Given the description of an element on the screen output the (x, y) to click on. 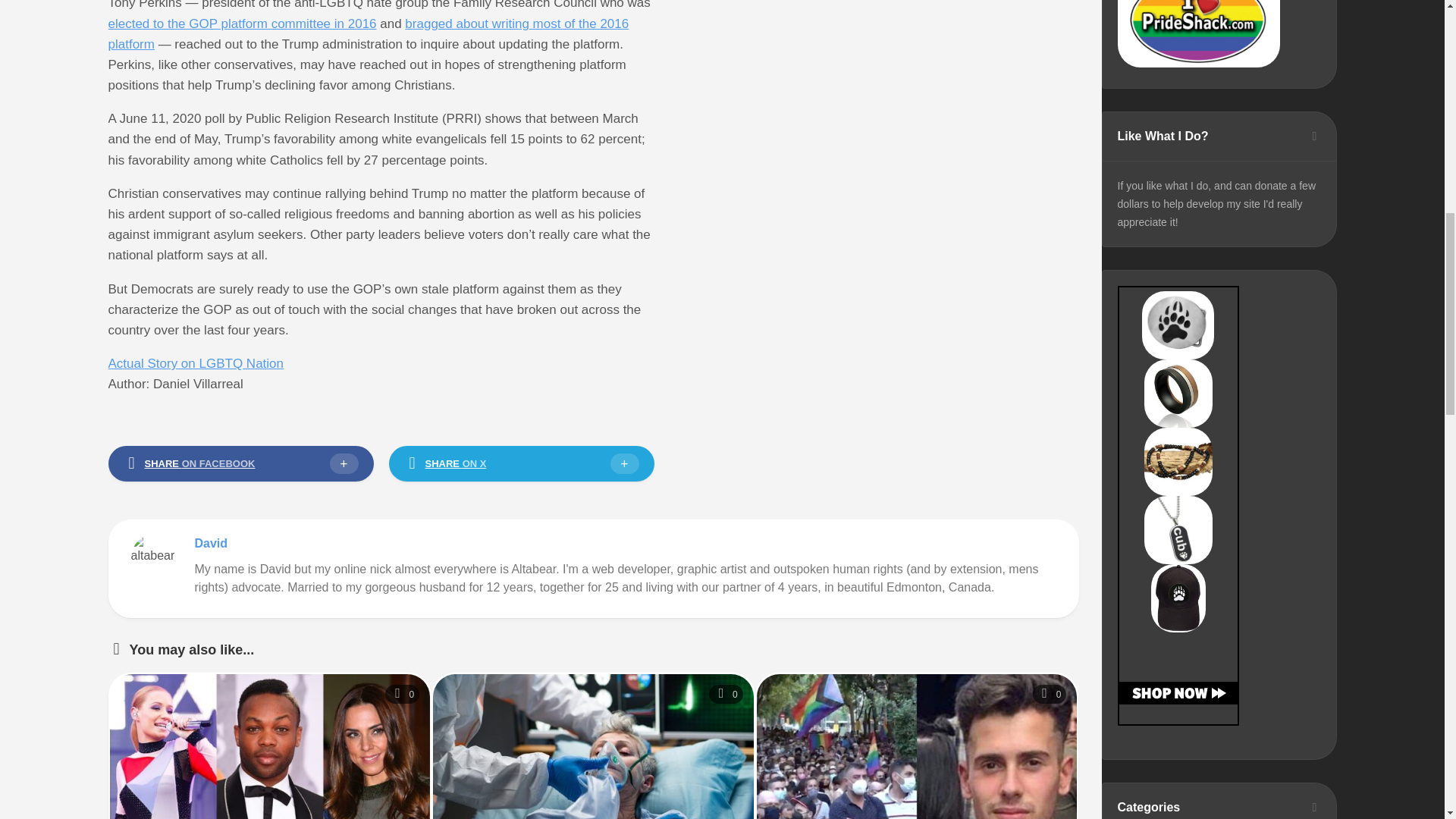
Posts by David (210, 543)
